Given the description of an element on the screen output the (x, y) to click on. 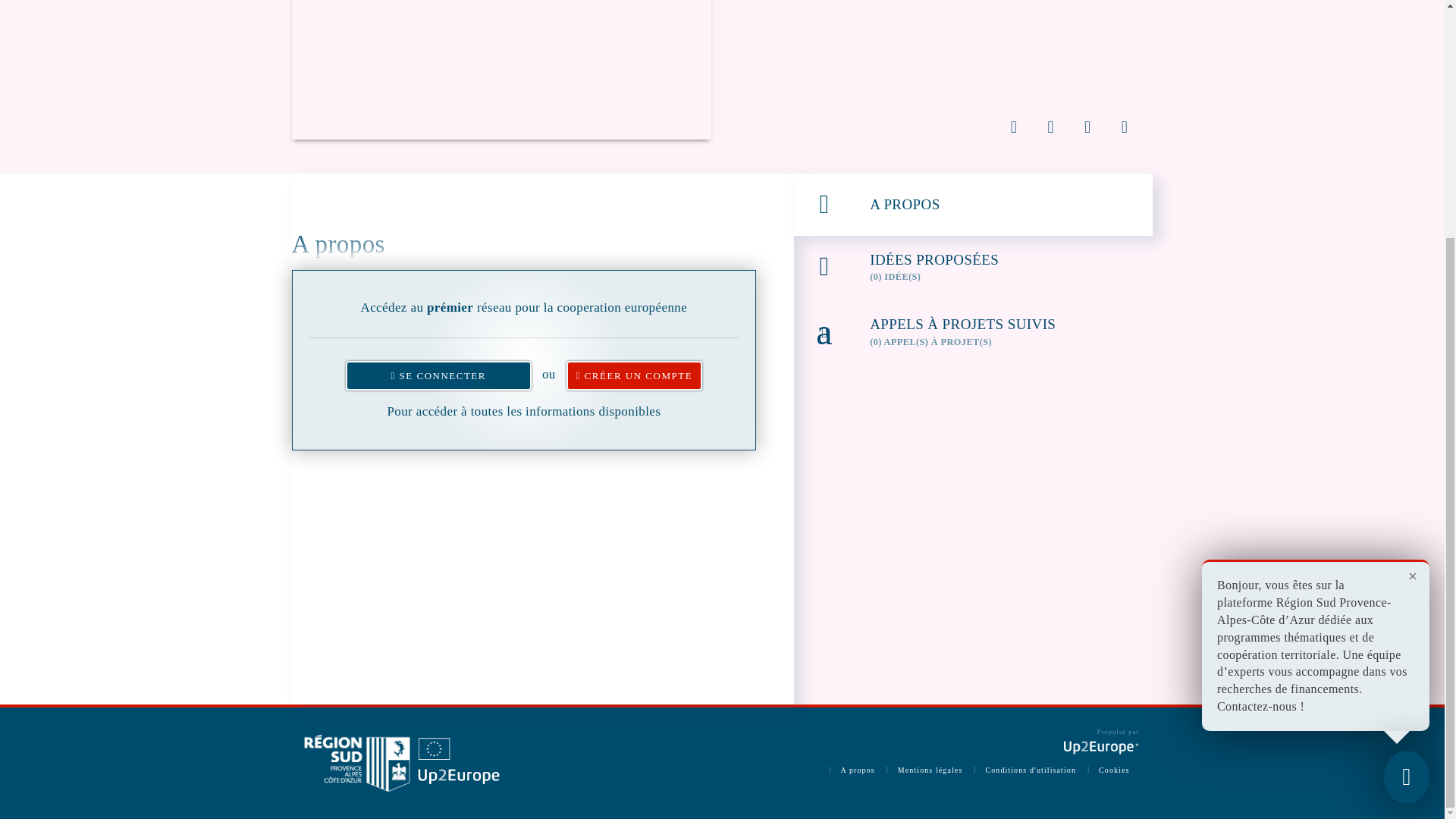
Share with LinkedIn (1087, 125)
Share with Twitter (1013, 125)
Share with Facebook (1050, 125)
